Given the description of an element on the screen output the (x, y) to click on. 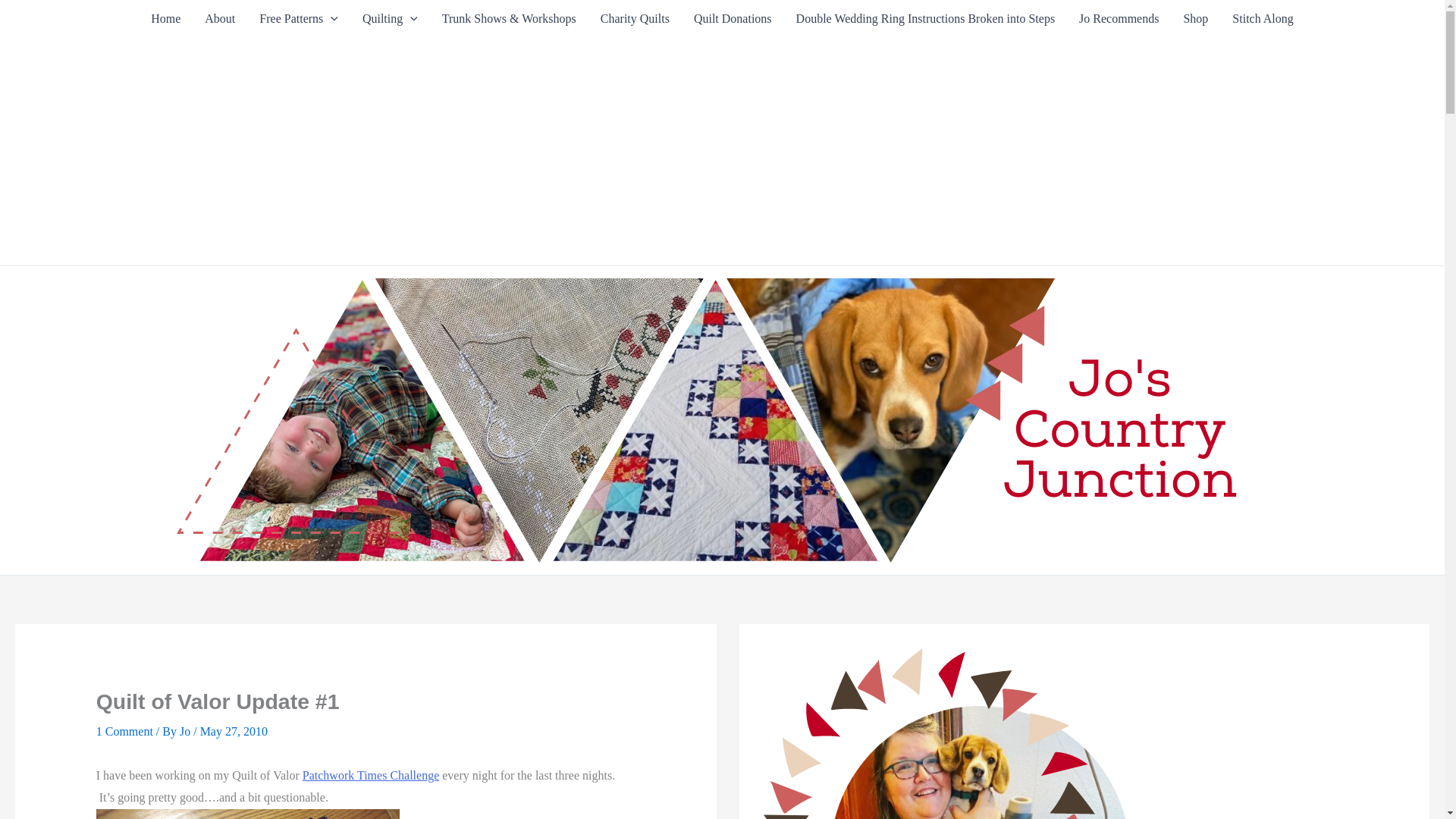
Free Patterns (298, 18)
Quilt Donations (732, 18)
Quilts of 2012 (389, 18)
Charity Quilts (634, 18)
Home (165, 18)
View all posts by Jo (186, 730)
About (219, 18)
QOV-1 (247, 814)
Quilting (389, 18)
